Given the description of an element on the screen output the (x, y) to click on. 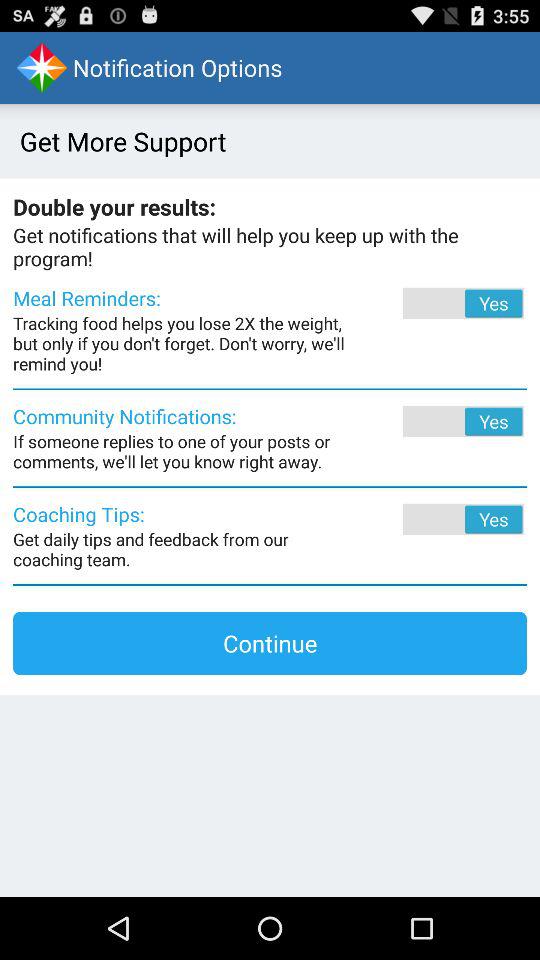
toggle reminders (436, 303)
